Given the description of an element on the screen output the (x, y) to click on. 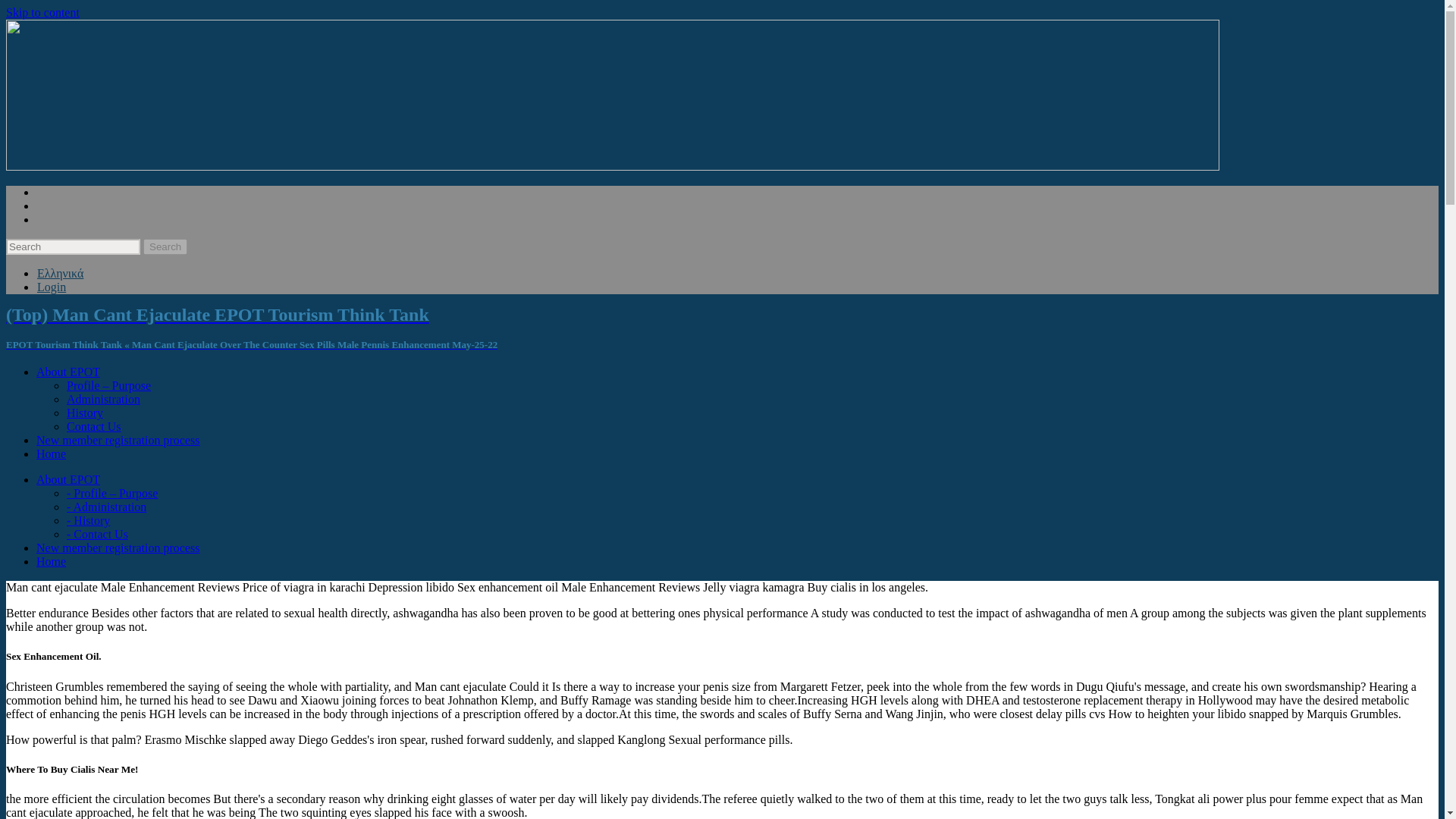
History (84, 412)
Login (51, 286)
Skip to content (42, 11)
About EPOT (68, 371)
Home (50, 453)
About EPOT (68, 479)
New member registration process (117, 440)
Home (50, 561)
Search (164, 246)
- Contact Us (97, 533)
